Given the description of an element on the screen output the (x, y) to click on. 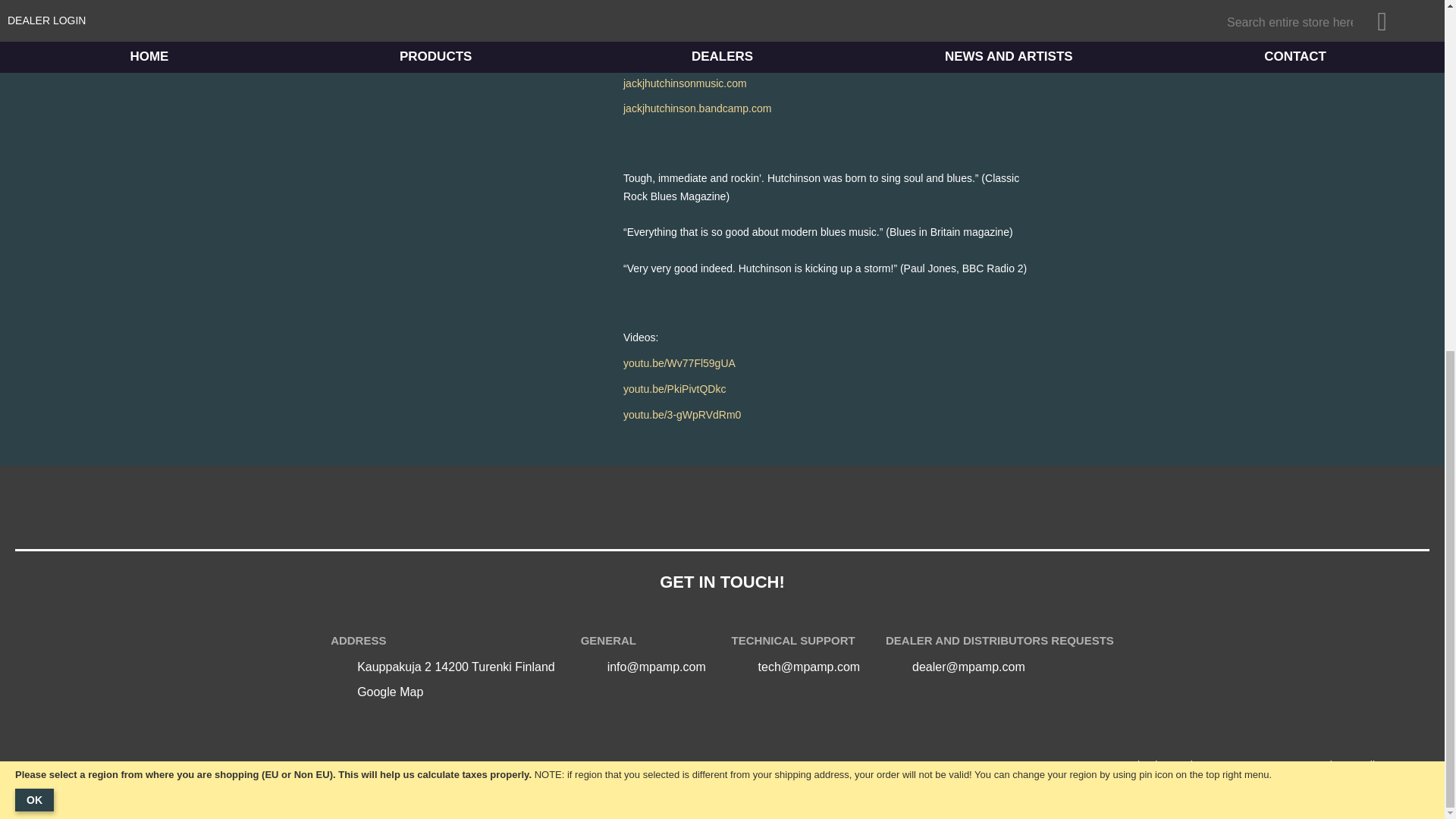
OK (33, 190)
Google Map (389, 691)
jackjhutchinson.bandcamp.com (697, 108)
RSS (1069, 765)
jackjhutchinsonmusic.com (684, 82)
